Given the description of an element on the screen output the (x, y) to click on. 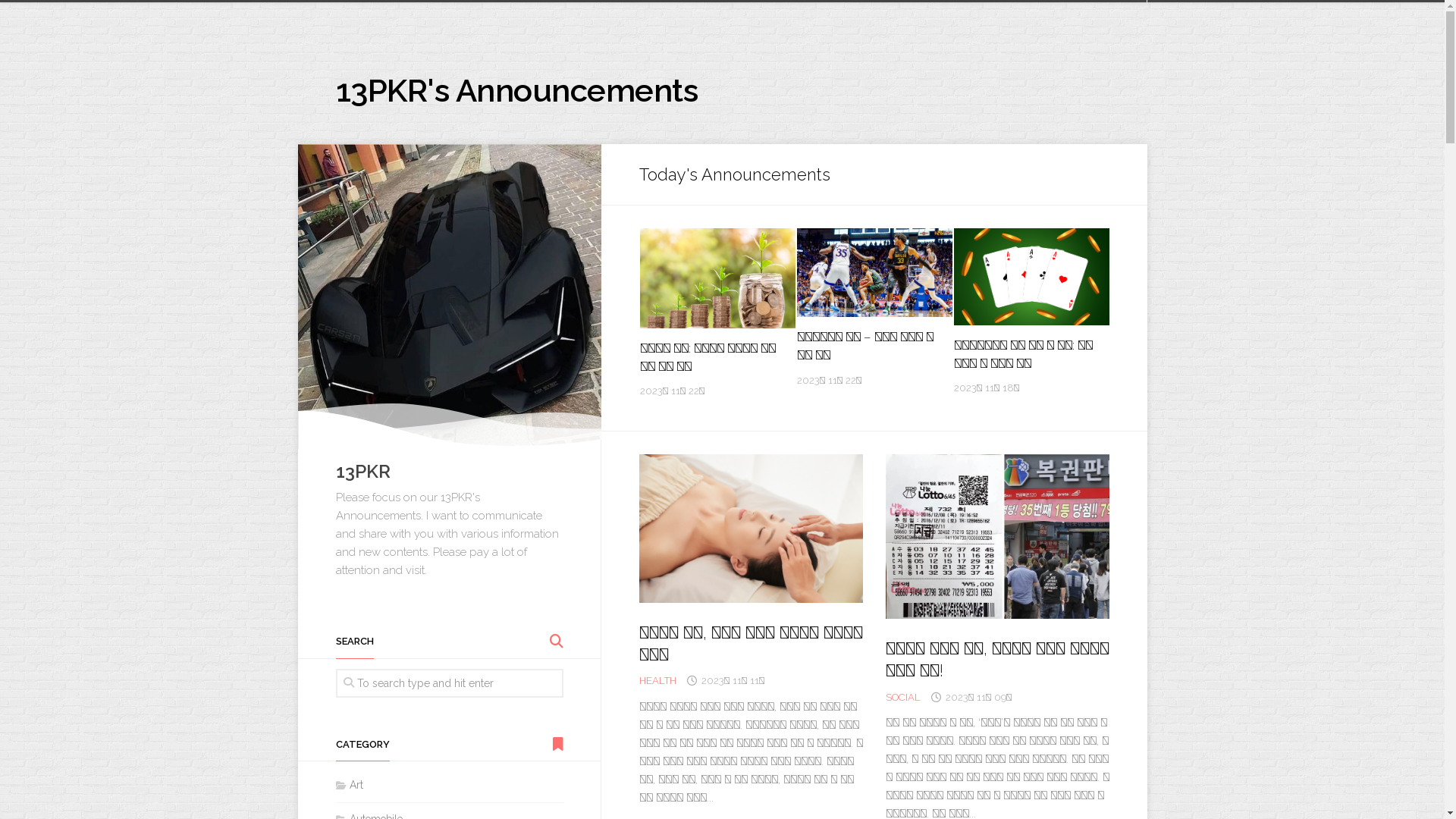
Art Element type: text (348, 784)
SOCIAL Element type: text (902, 696)
HEALTH Element type: text (656, 680)
13PKR's Announcements Element type: text (516, 90)
